Given the description of an element on the screen output the (x, y) to click on. 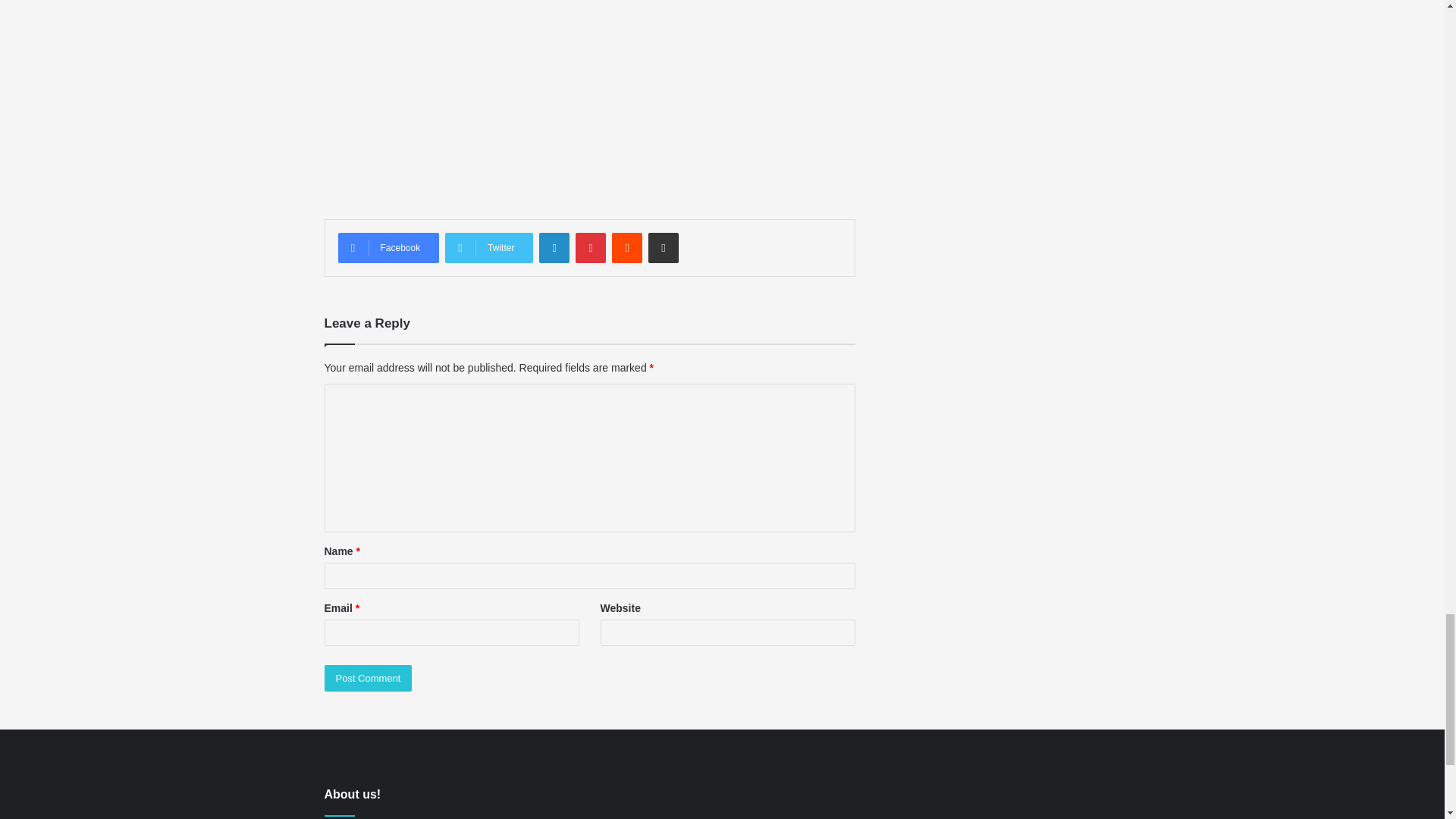
Share via Email (662, 247)
Pinterest (590, 247)
Reddit (626, 247)
Post Comment (368, 678)
LinkedIn (553, 247)
LinkedIn (553, 247)
Facebook (388, 247)
Pinterest (590, 247)
Facebook (388, 247)
Post Comment (368, 678)
Twitter (488, 247)
Twitter (488, 247)
Reddit (626, 247)
Share via Email (662, 247)
